Given the description of an element on the screen output the (x, y) to click on. 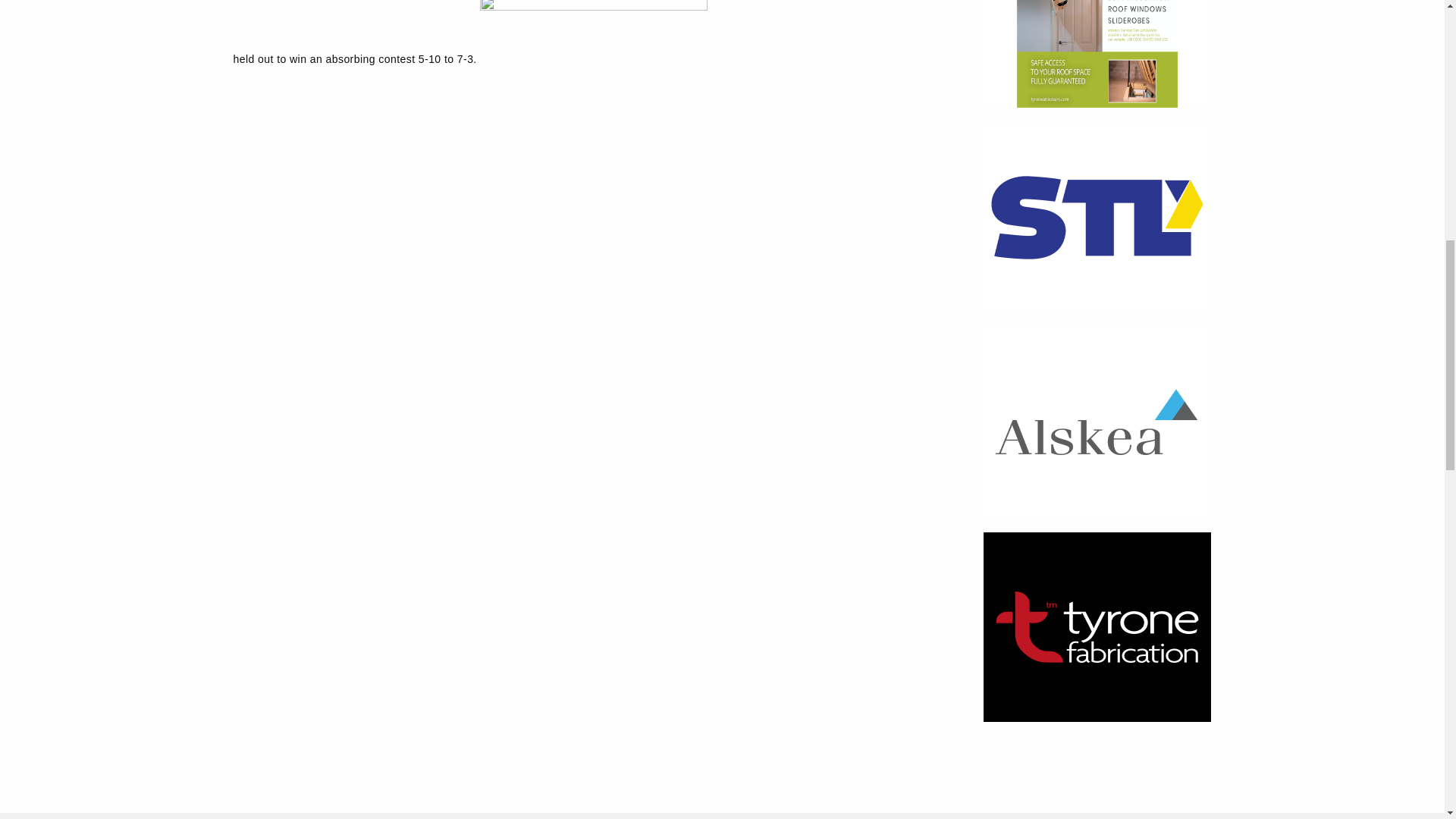
Tyrone-Vocational-Schools-U-14-final-2 (593, 62)
